Given the description of an element on the screen output the (x, y) to click on. 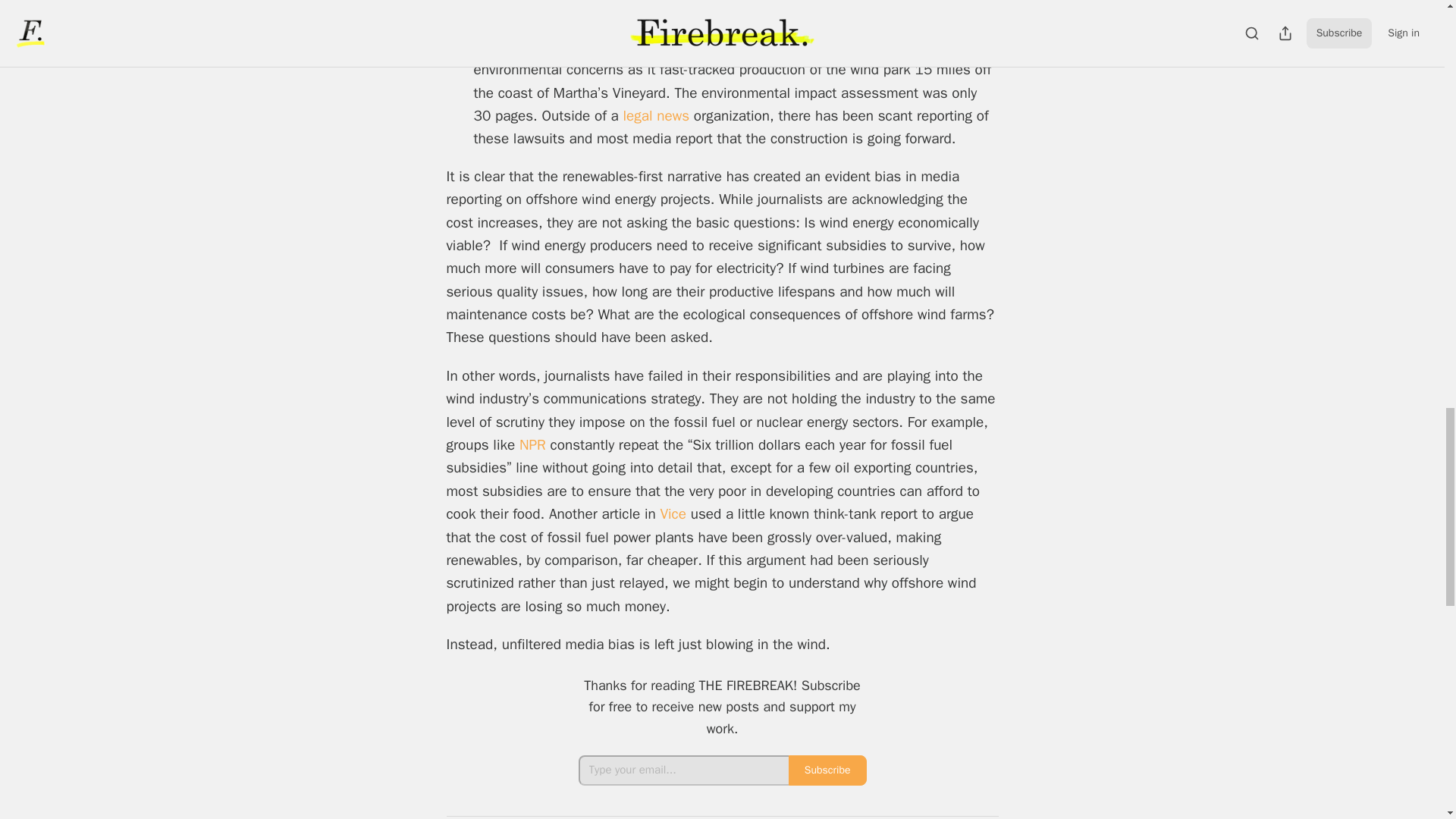
Subscribe (827, 770)
NPR (534, 444)
Vice (674, 514)
legal news (655, 116)
